Given the description of an element on the screen output the (x, y) to click on. 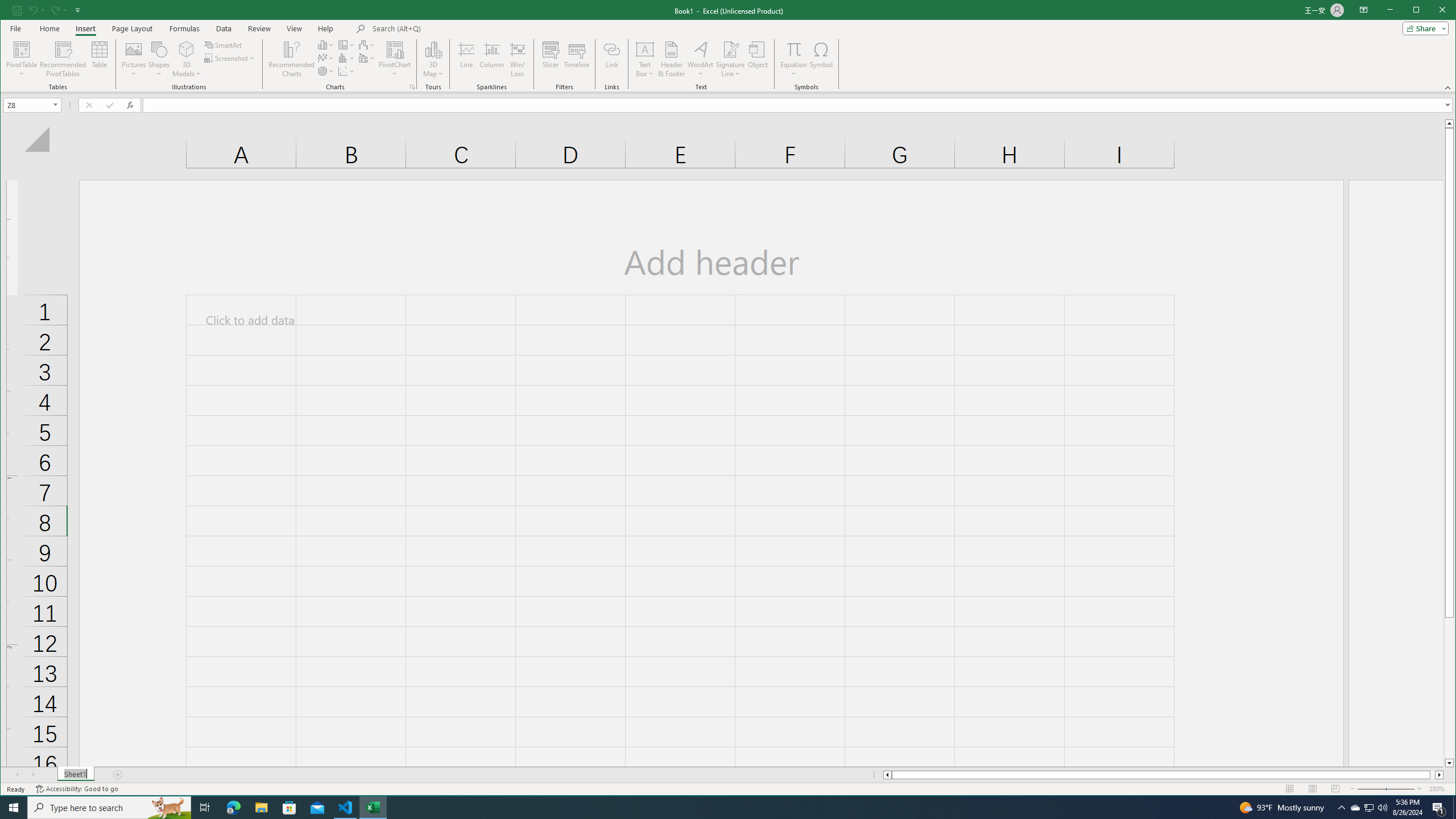
Shapes (159, 59)
Header & Footer... (670, 59)
Visual Studio Code - 1 running window (345, 807)
Show desktop (1454, 807)
Text Box (644, 59)
